Given the description of an element on the screen output the (x, y) to click on. 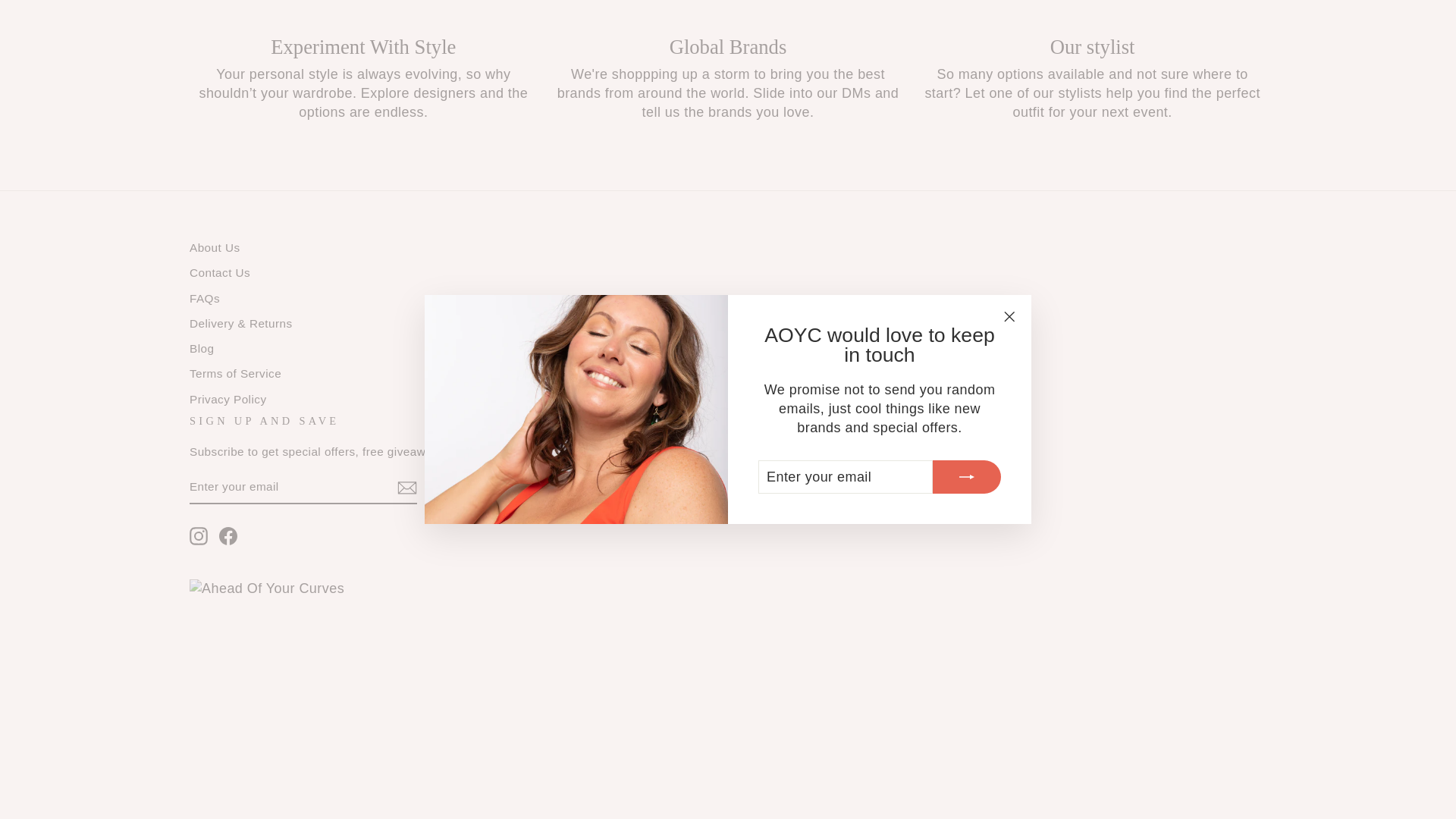
Apple Pay (622, 717)
PayPal (727, 717)
Union Pay (797, 717)
Google Pay (657, 717)
Mastercard (692, 717)
Shop Pay (762, 717)
Visa (832, 717)
